Given the description of an element on the screen output the (x, y) to click on. 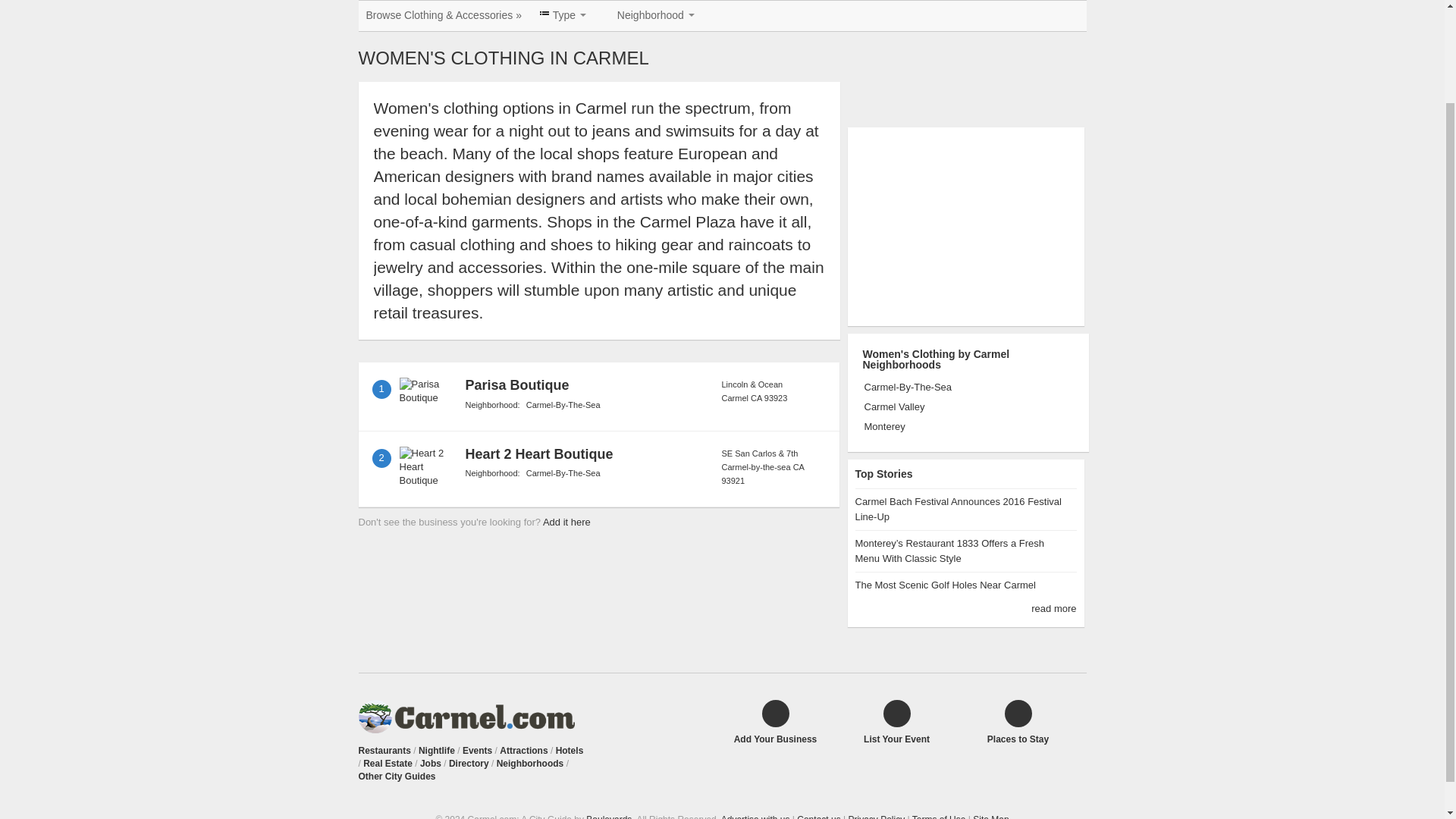
Type (562, 15)
